Given the description of an element on the screen output the (x, y) to click on. 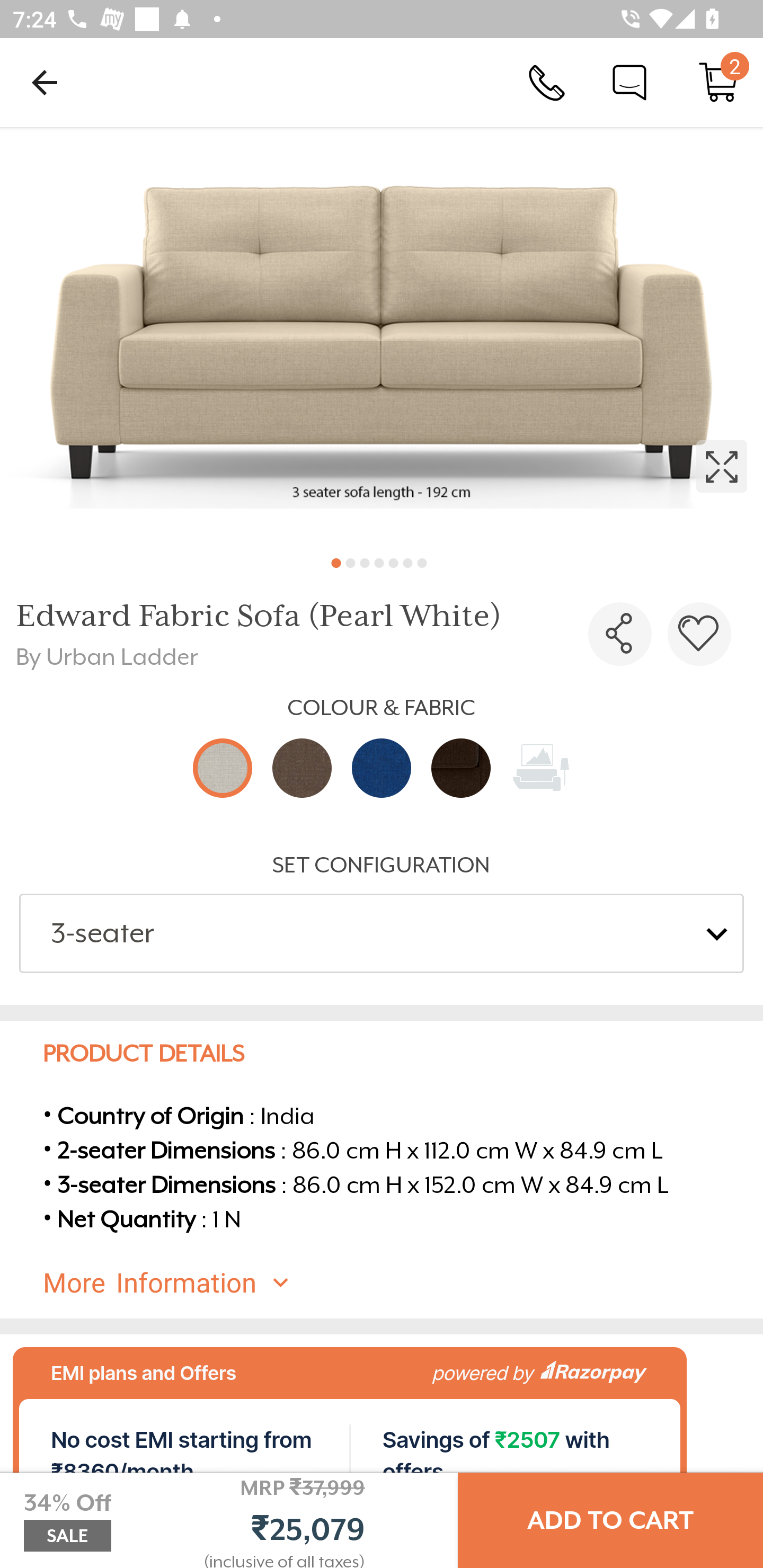
Navigate up (44, 82)
Call Us (546, 81)
Chat (629, 81)
Cart (718, 81)
 (381, 334)
 (619, 634)
 (698, 634)
SET CONFIGURATION 3-seater  (381, 912)
More Information  (396, 1282)
ADD TO CART (610, 1520)
